Given the description of an element on the screen output the (x, y) to click on. 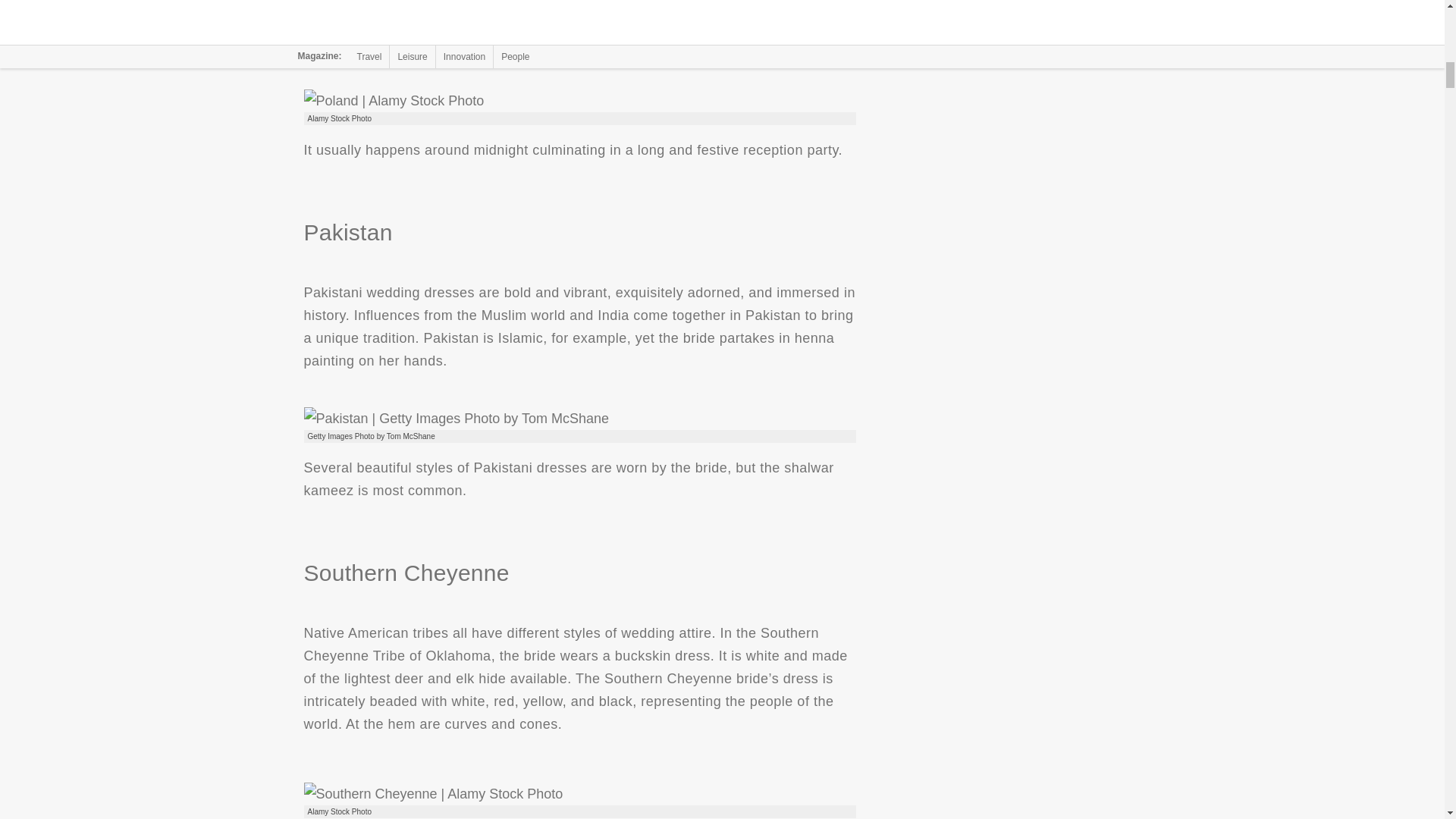
Poland (392, 100)
Pakistan (455, 418)
Southern Cheyenne (432, 793)
